Given the description of an element on the screen output the (x, y) to click on. 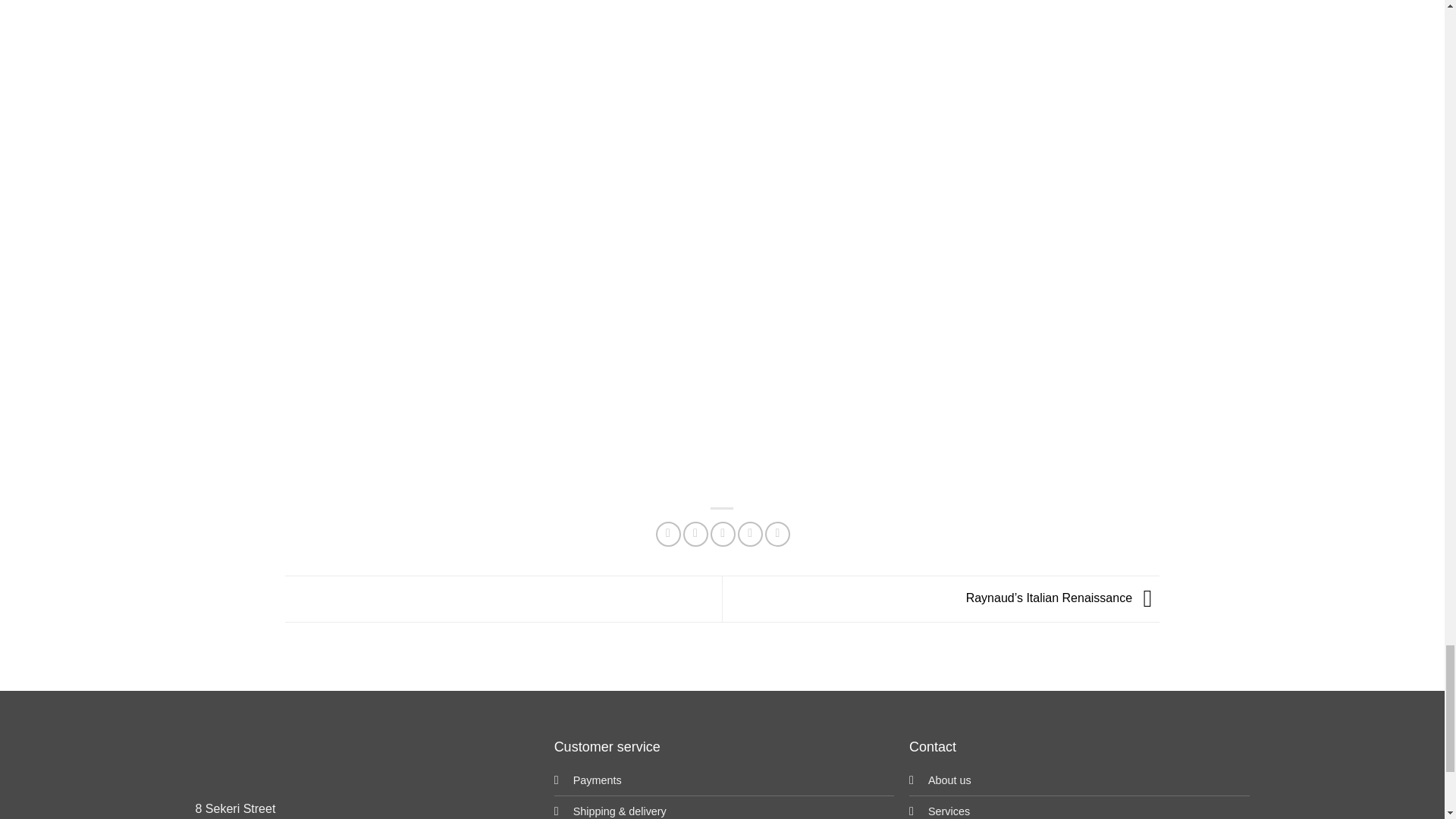
Share on Twitter (694, 534)
Share on Facebook (668, 534)
Pin on Pinterest (750, 534)
Share on LinkedIn (777, 534)
Email to a Friend (722, 534)
